Given the description of an element on the screen output the (x, y) to click on. 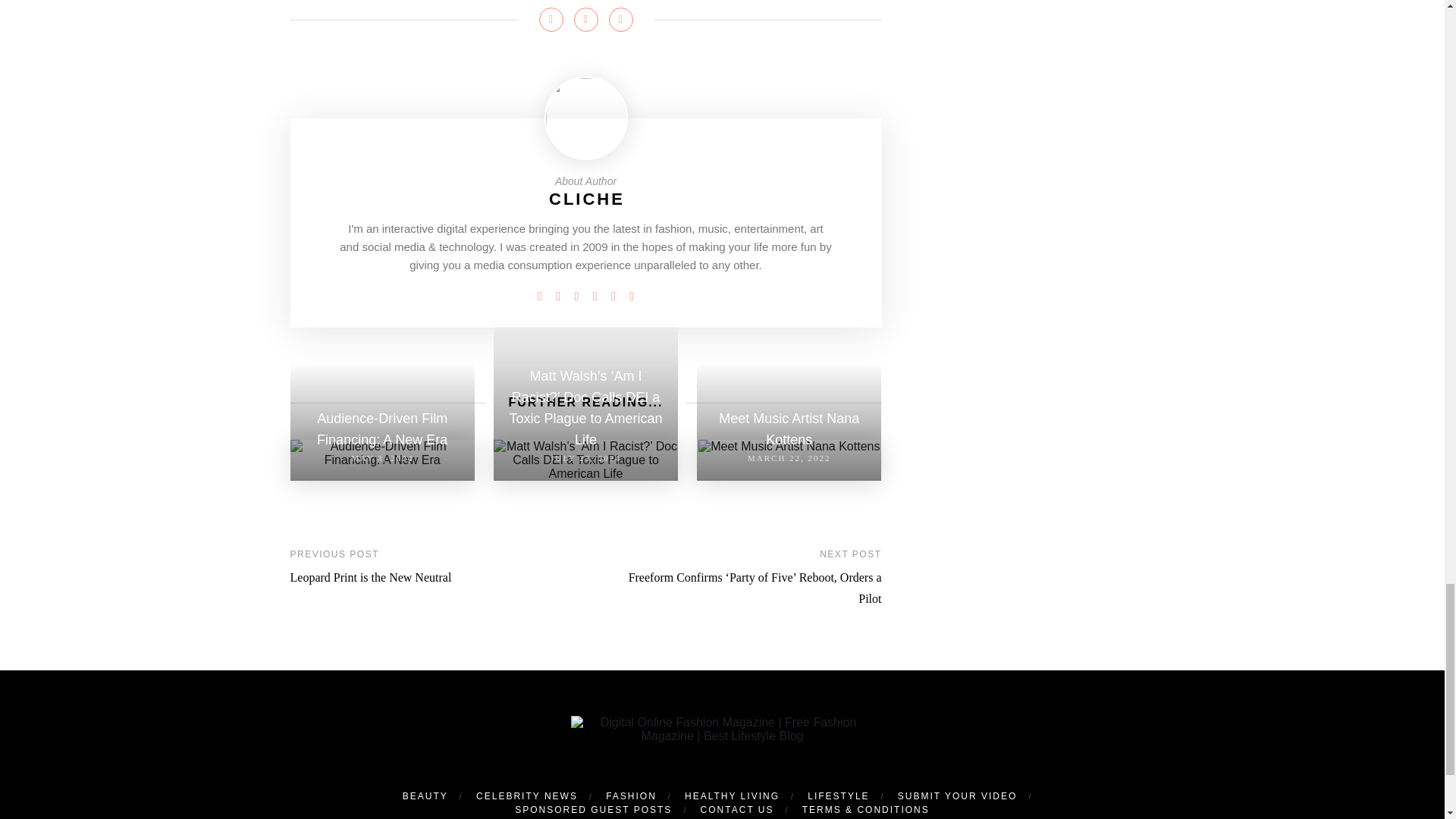
Posts by Cliche (586, 198)
Audience-Driven Film Financing: A New Era (381, 452)
Meet Music Artist Nana Kottens (788, 446)
